Given the description of an element on the screen output the (x, y) to click on. 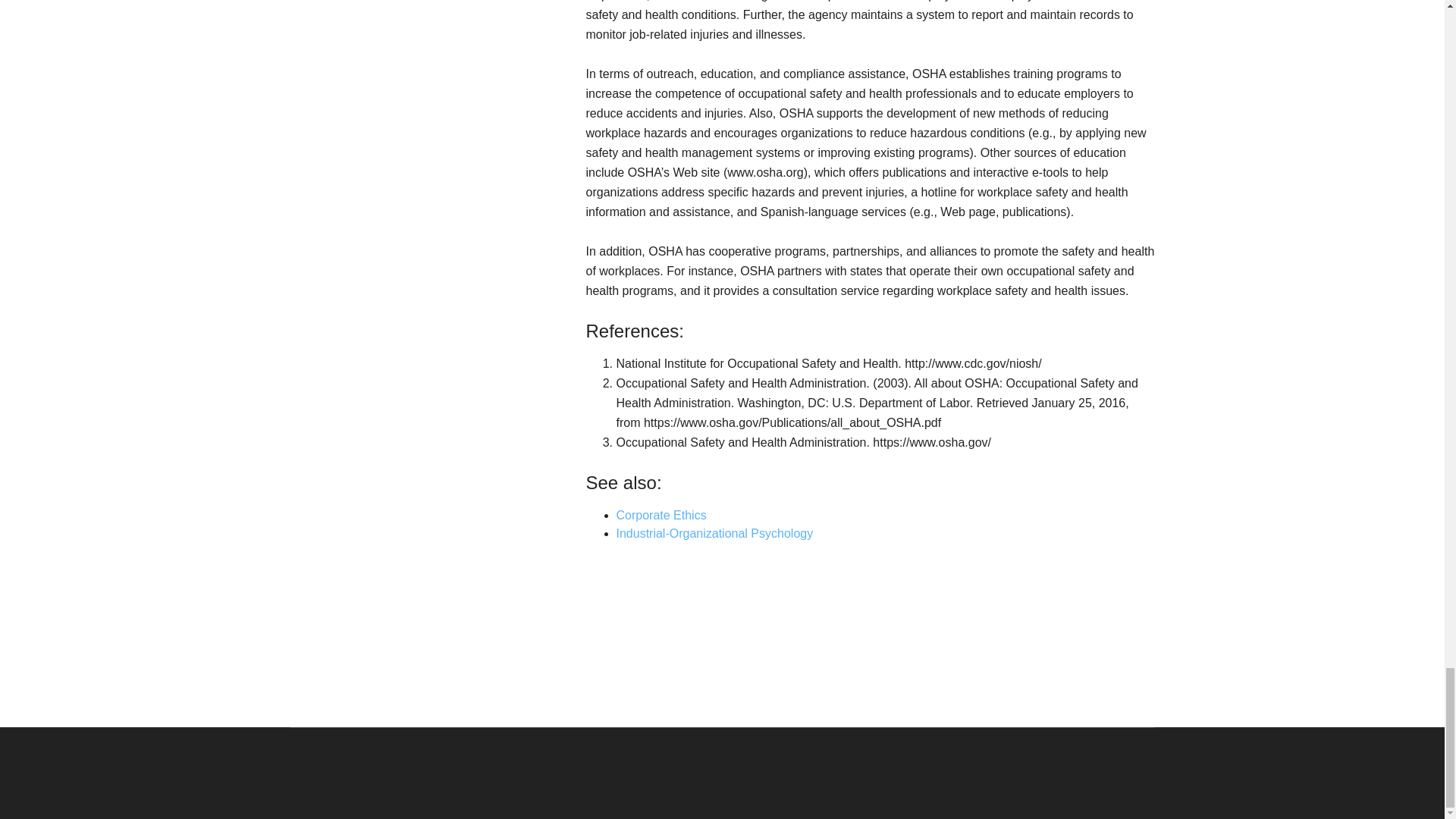
Corporate Ethics (660, 514)
Industrial-Organizational Psychology (713, 533)
